Given the description of an element on the screen output the (x, y) to click on. 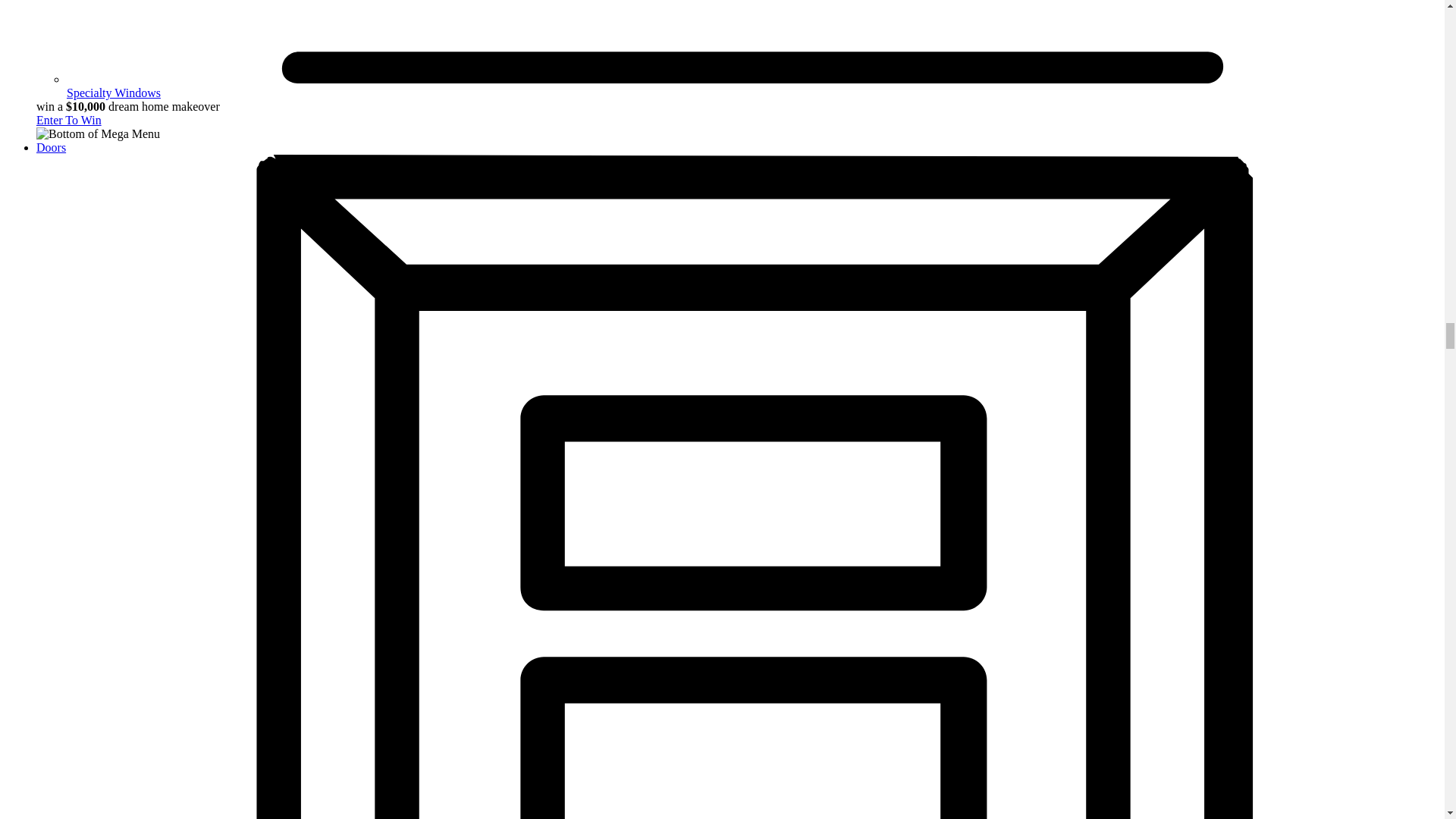
Doors (50, 146)
Enter To Win (68, 119)
